Given the description of an element on the screen output the (x, y) to click on. 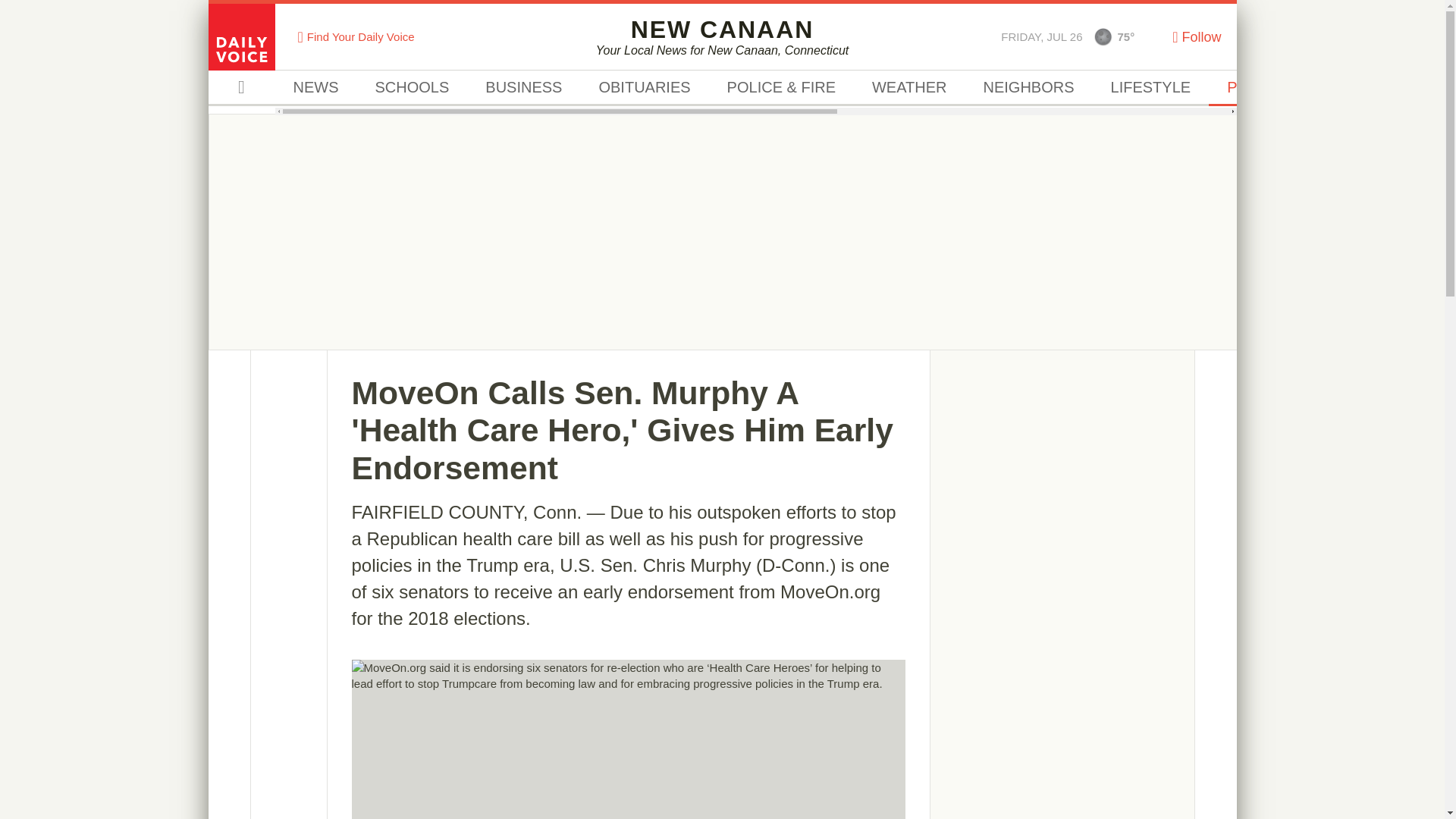
NEWS (315, 88)
BUSINESS (523, 88)
SPORTS (1363, 88)
SCHOOLS (411, 88)
OBITUARIES (643, 88)
LIFESTYLE (1151, 88)
POLITICS (721, 36)
NEIGHBORS (1261, 88)
WEATHER (1027, 88)
Fair (909, 88)
